Given the description of an element on the screen output the (x, y) to click on. 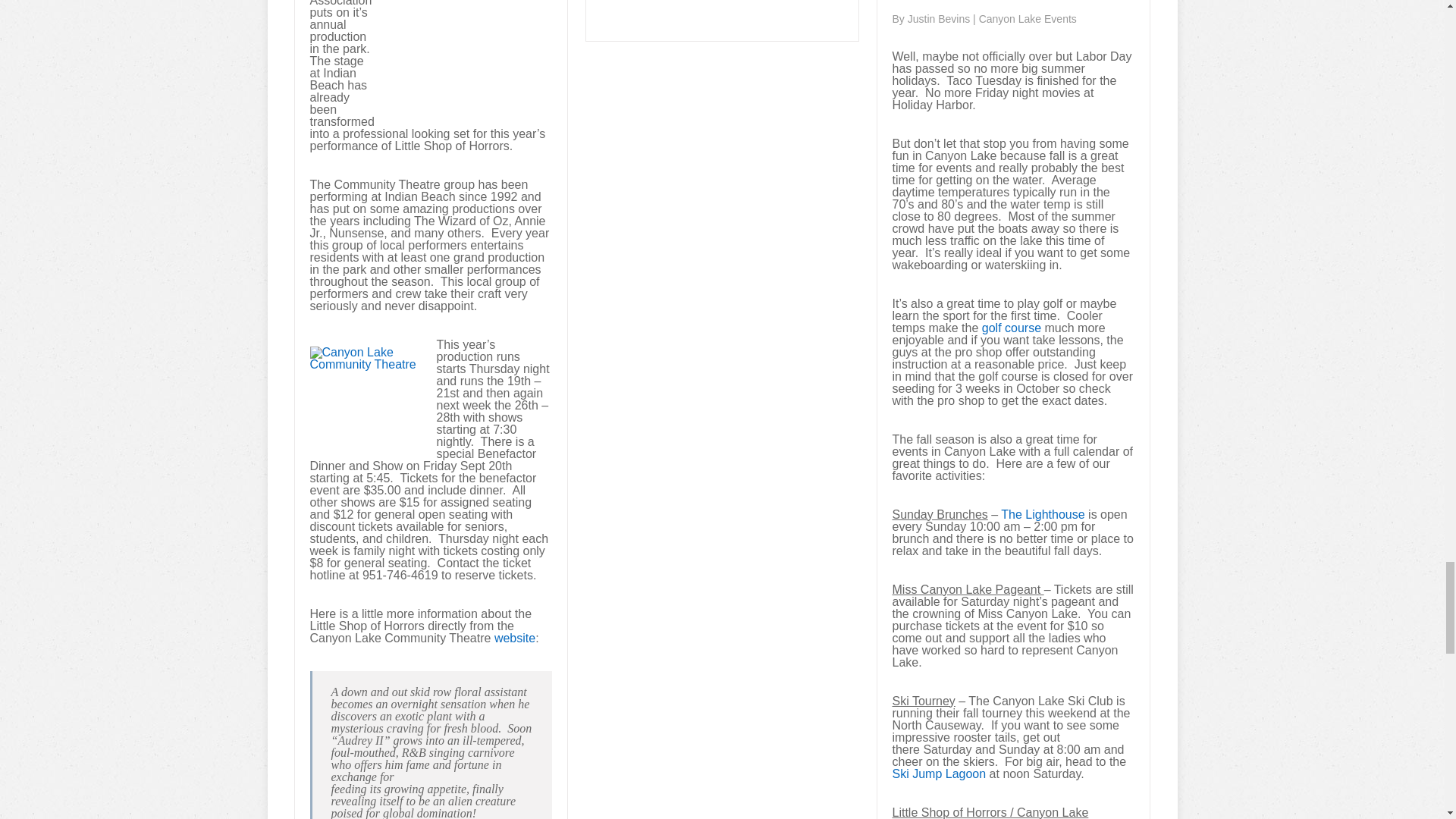
The Lake (938, 773)
Golf Course (1013, 327)
The Lodge (1042, 513)
